Given the description of an element on the screen output the (x, y) to click on. 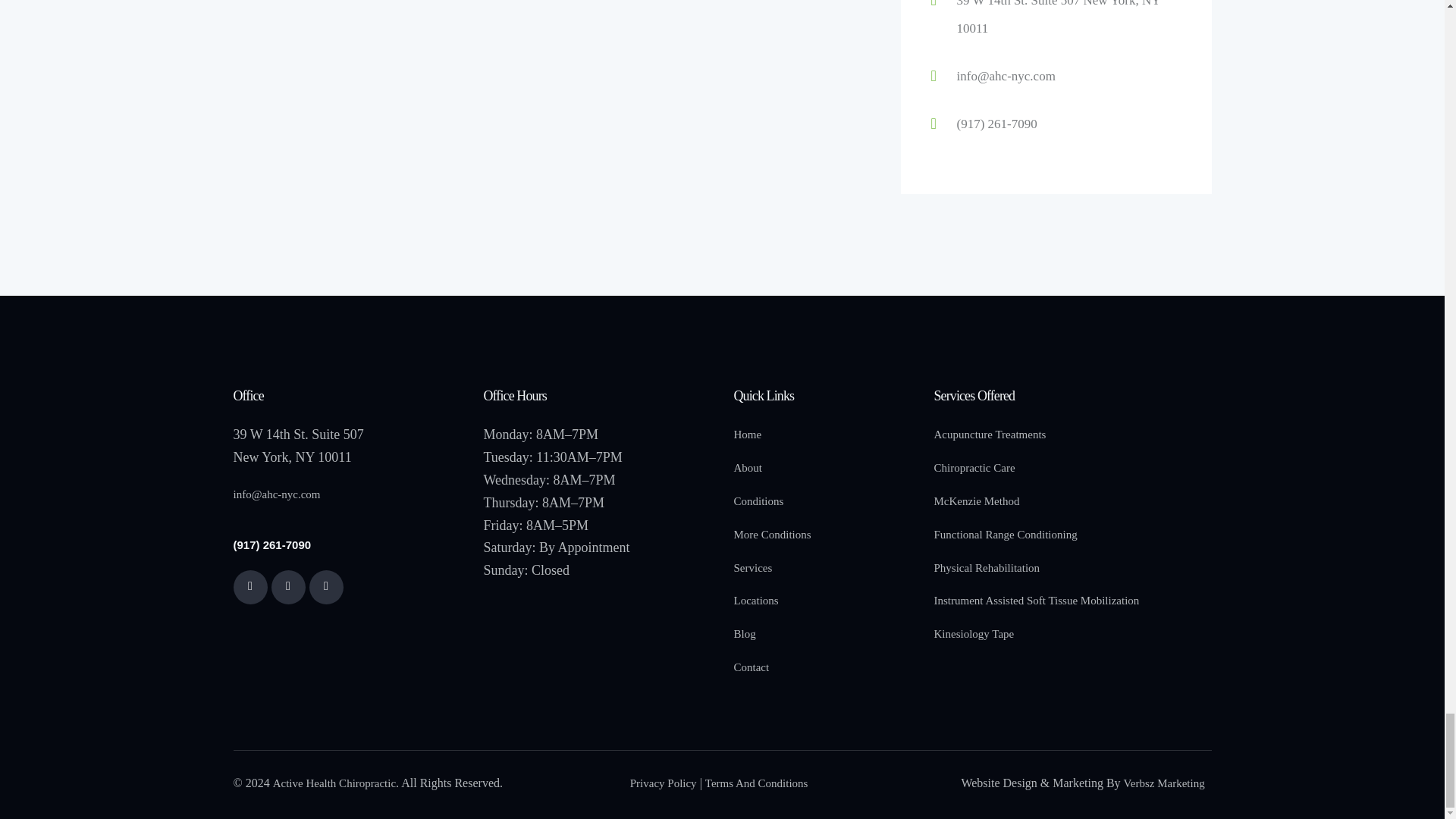
Princeton,New Jersey, NJ, USA (551, 97)
